Given the description of an element on the screen output the (x, y) to click on. 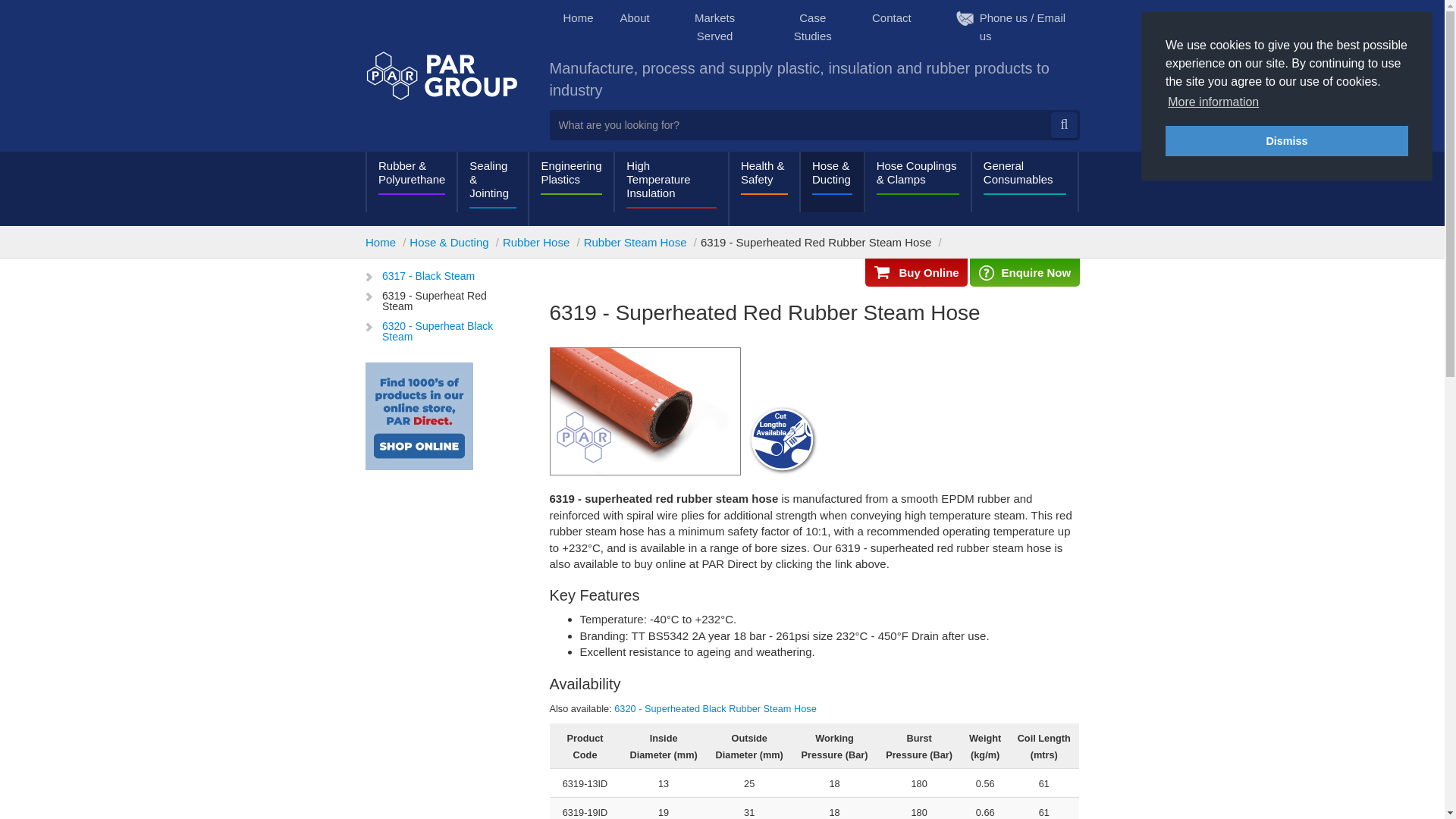
More information (1213, 101)
6319 - Superheated Red Rubber Steam Hose (643, 411)
Cut Lengths Available (781, 439)
Dismiss (1286, 141)
PAR Group (440, 75)
